Given the description of an element on the screen output the (x, y) to click on. 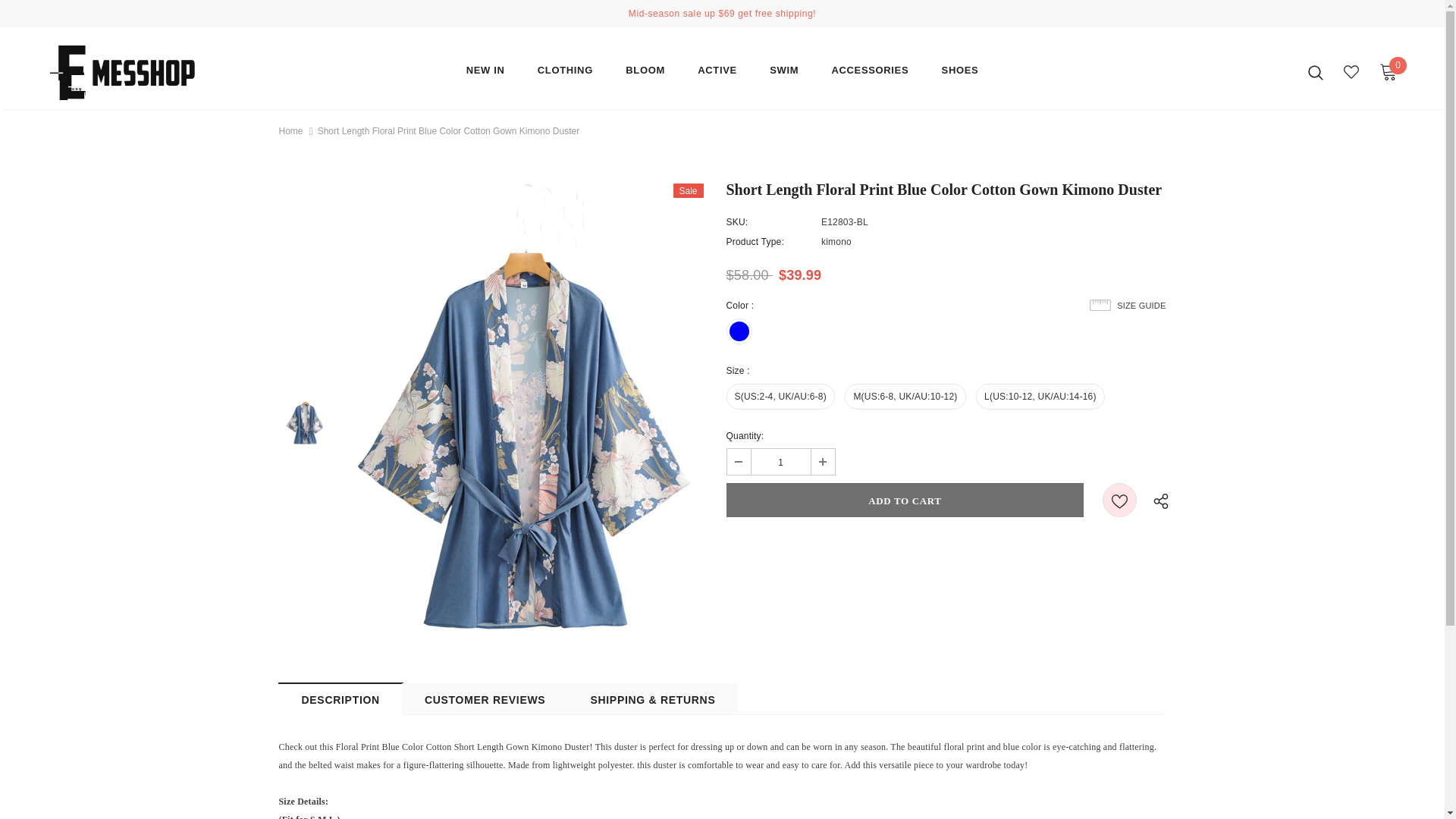
Add to cart (905, 499)
ACTIVE (716, 73)
BLOOM (645, 73)
1 (780, 461)
SWIM (783, 73)
ACCESSORIES (869, 73)
CLOTHING (564, 73)
NEW IN (485, 73)
SHOES (960, 73)
